Given the description of an element on the screen output the (x, y) to click on. 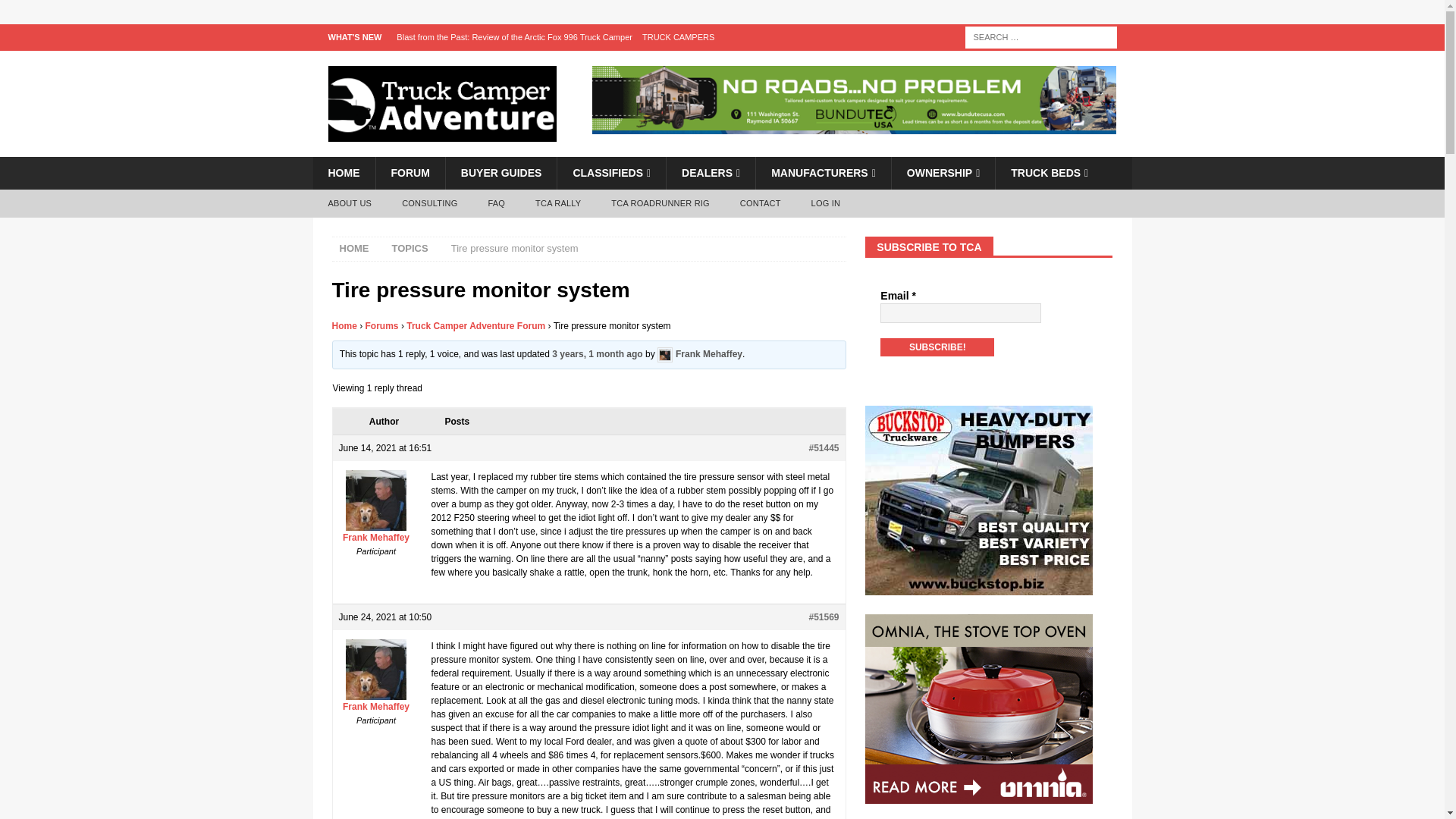
Reply To: Tire pressure monitor system (596, 354)
DEALERS (710, 173)
Search (56, 11)
HOME (343, 173)
Subscribe! (937, 347)
Email (960, 312)
FORUM (409, 173)
BUYER GUIDES (501, 173)
